Given the description of an element on the screen output the (x, y) to click on. 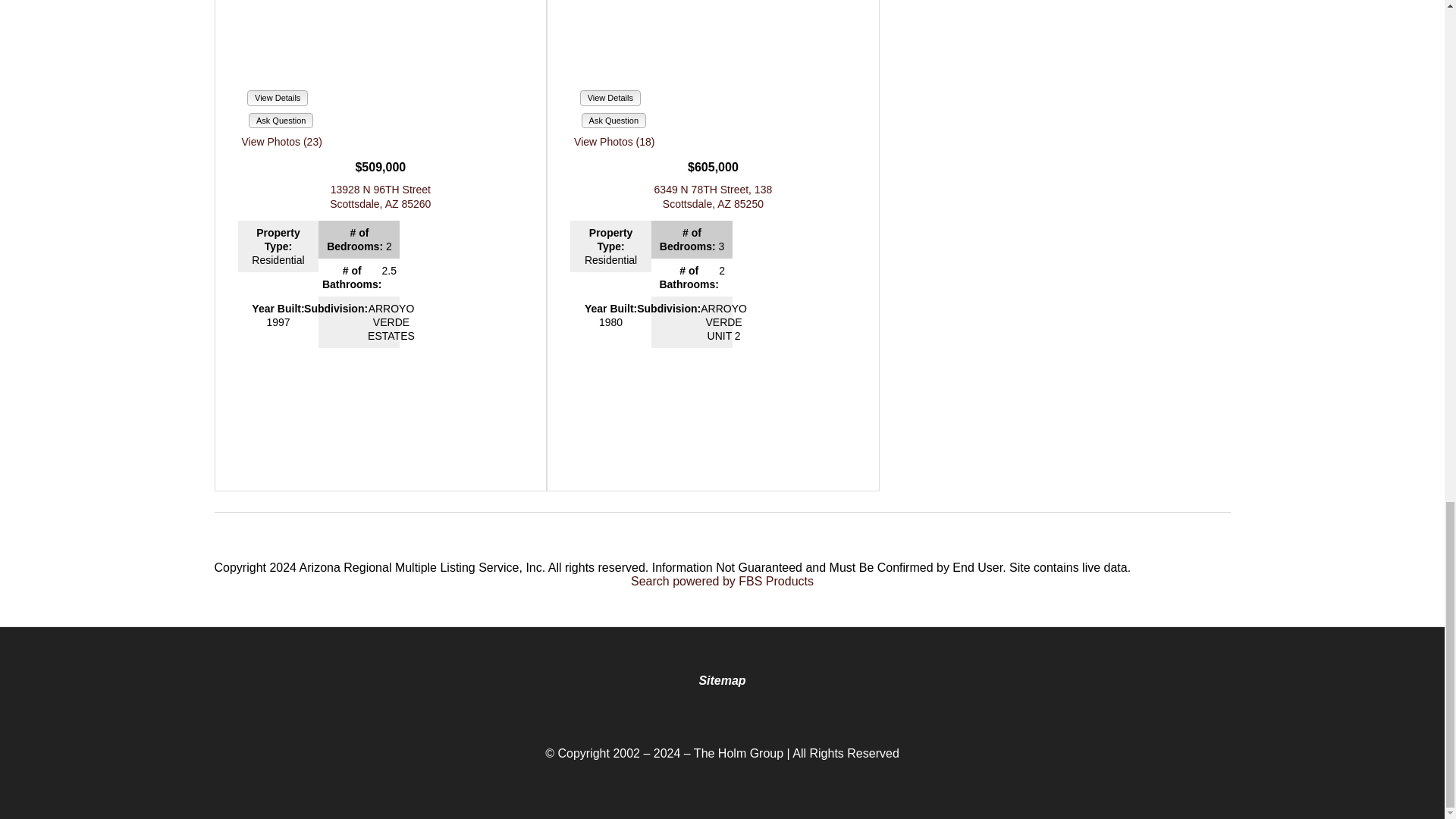
Click for more details (713, 196)
Click for more details (380, 196)
